Given the description of an element on the screen output the (x, y) to click on. 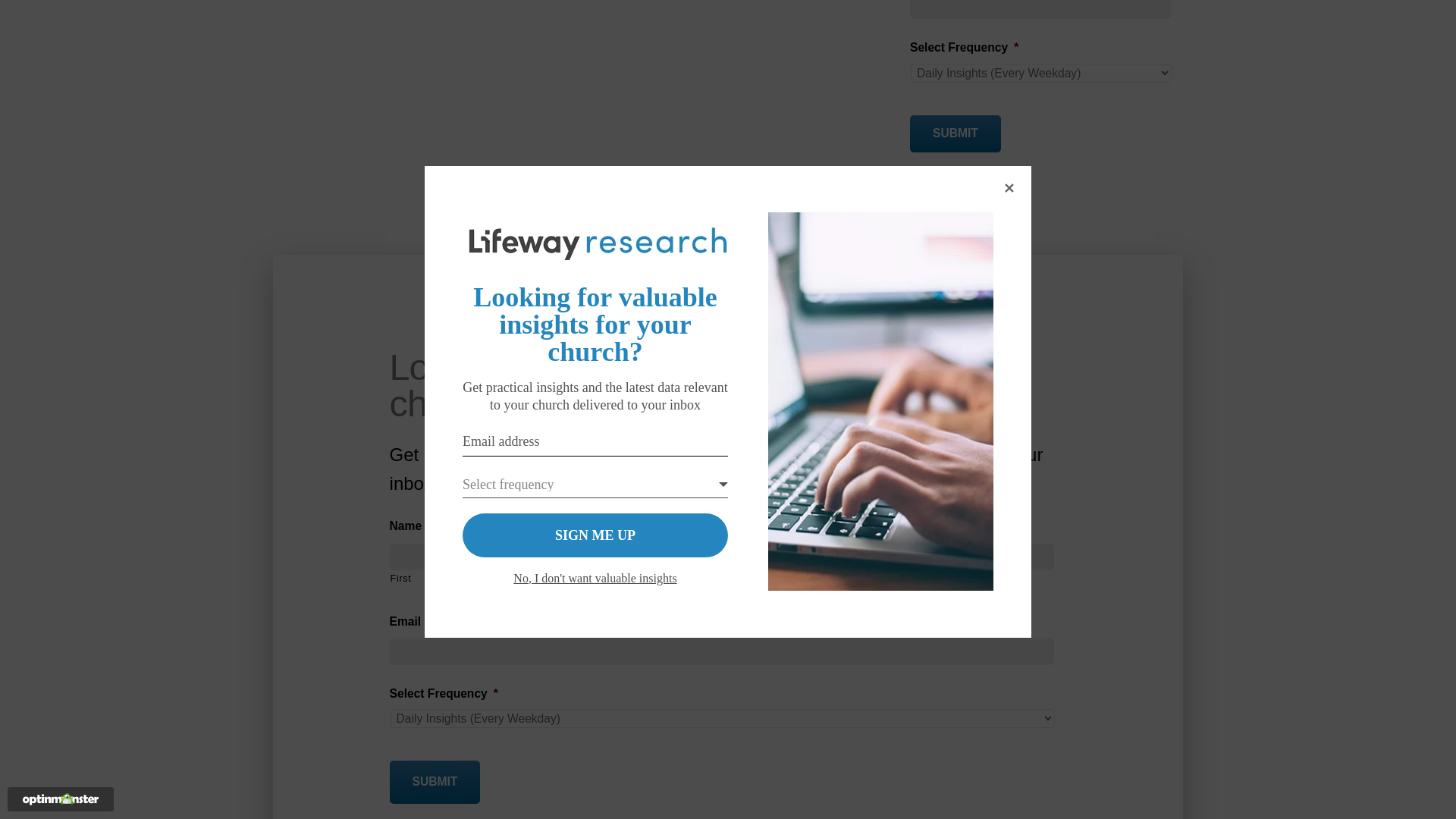
Submit (435, 781)
Submit (955, 133)
